Given the description of an element on the screen output the (x, y) to click on. 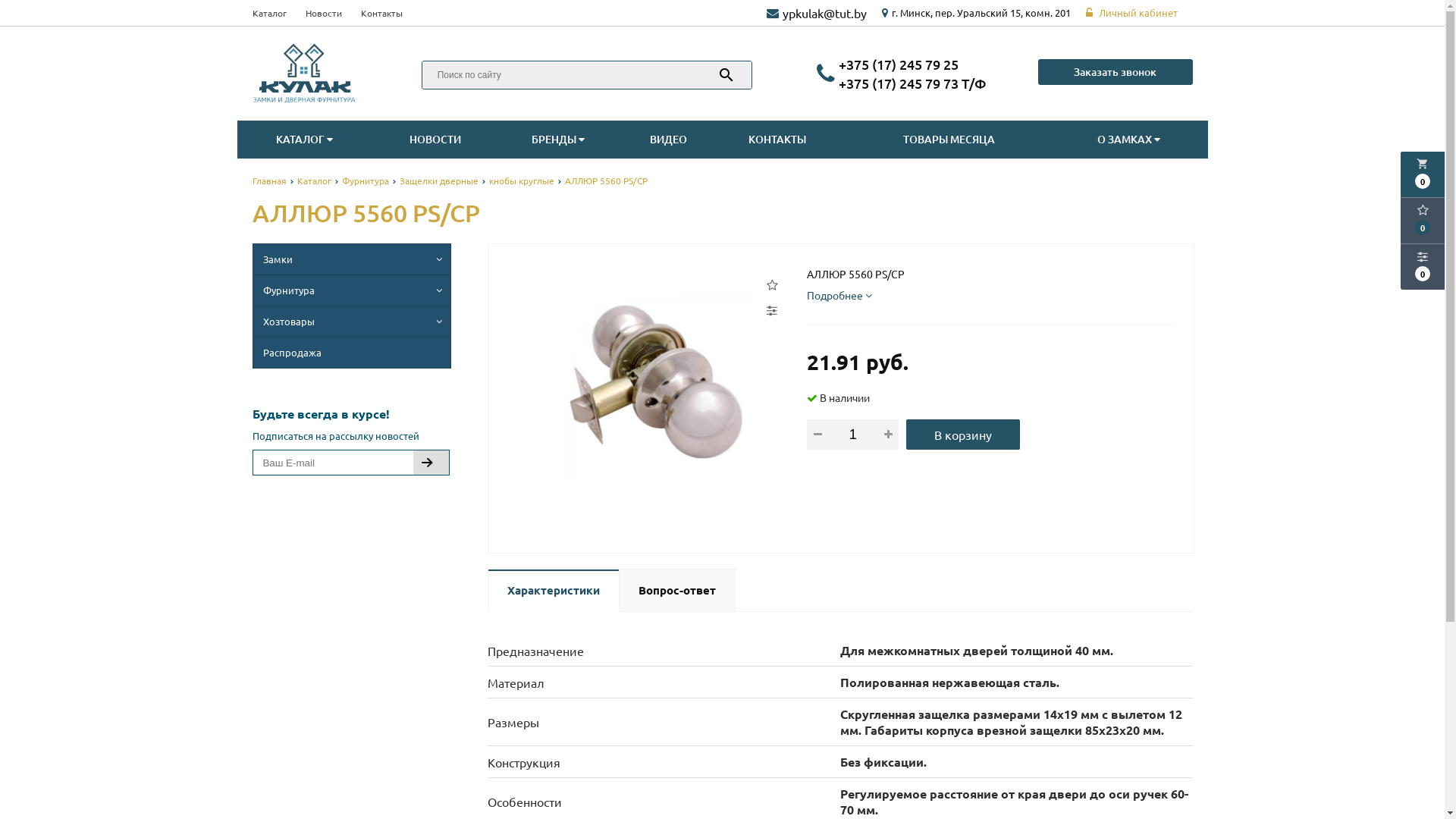
local_grocery_store
0 Element type: text (1422, 174)
+375 (17) 245 79 25 Element type: text (898, 63)
0 Element type: text (1422, 266)
ypkulak@tut.by Element type: text (824, 12)
search Element type: text (726, 74)
+375 (17) 245 79 73 Element type: text (912, 82)
0 Element type: text (1422, 220)
